Given the description of an element on the screen output the (x, y) to click on. 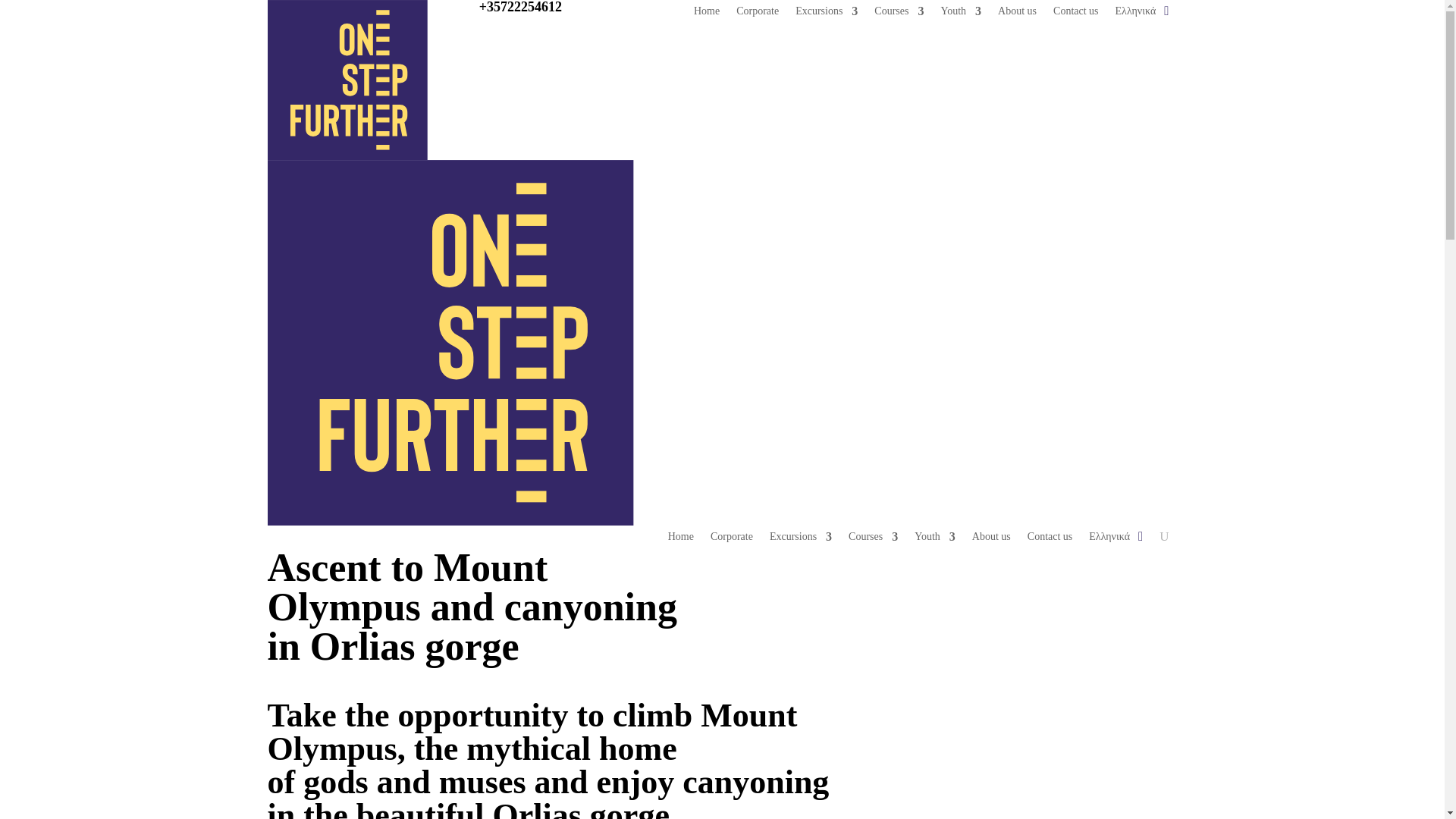
Corporate (757, 13)
Contact us (1075, 13)
Home (706, 13)
Courses (873, 539)
About us (1016, 13)
Courses (899, 13)
Excursions (825, 13)
Excursions (800, 539)
Youth (960, 13)
Corporate (731, 539)
Home (681, 539)
